Given the description of an element on the screen output the (x, y) to click on. 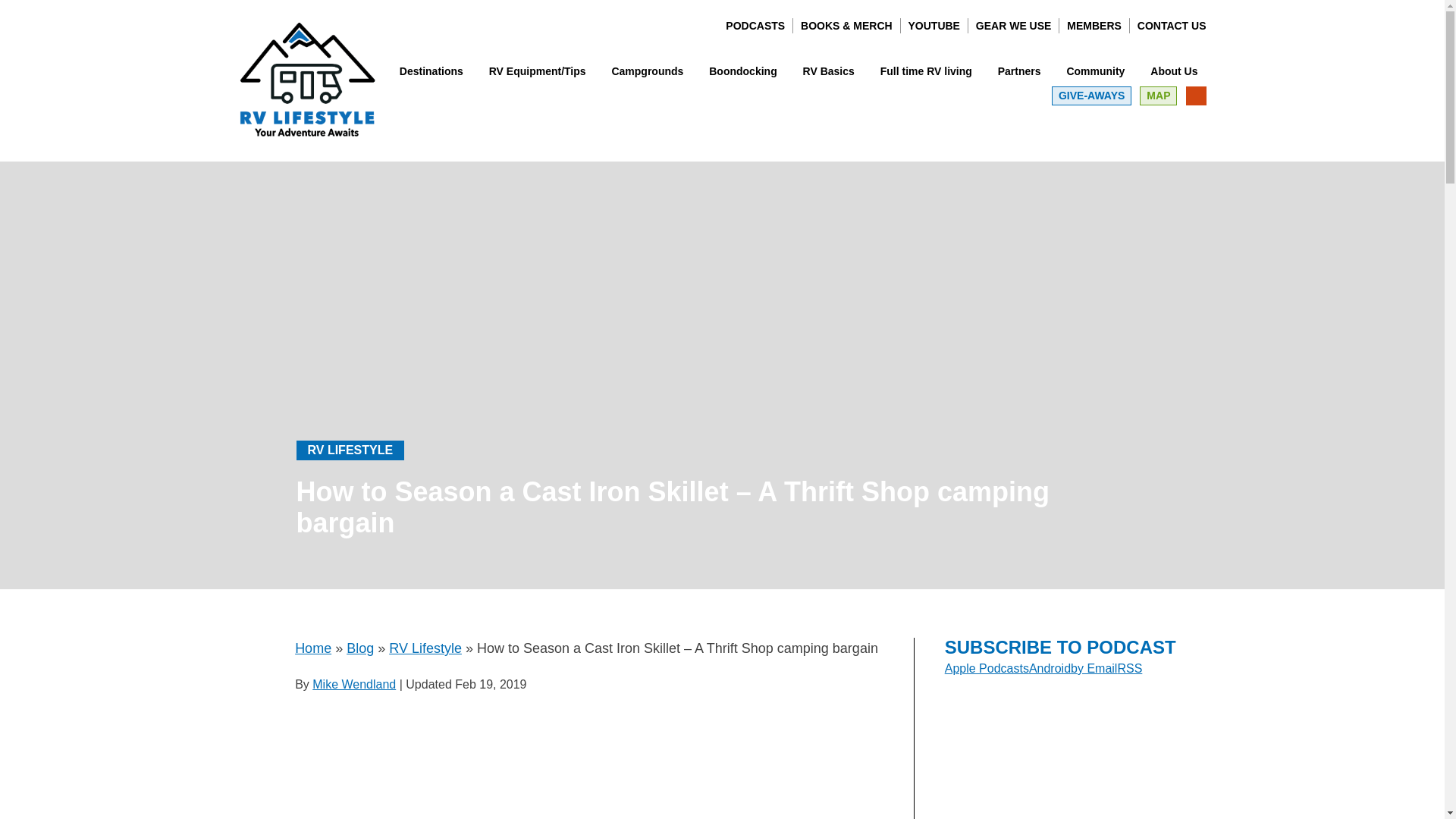
CONTACT US (1172, 25)
Subscribe via RSS (1128, 667)
Subscribe on Android (1049, 667)
YOUTUBE (933, 25)
PODCASTS (754, 25)
Destinations (430, 70)
Subscribe on Apple Podcasts (986, 667)
Subscribe by Email (1093, 667)
